Given the description of an element on the screen output the (x, y) to click on. 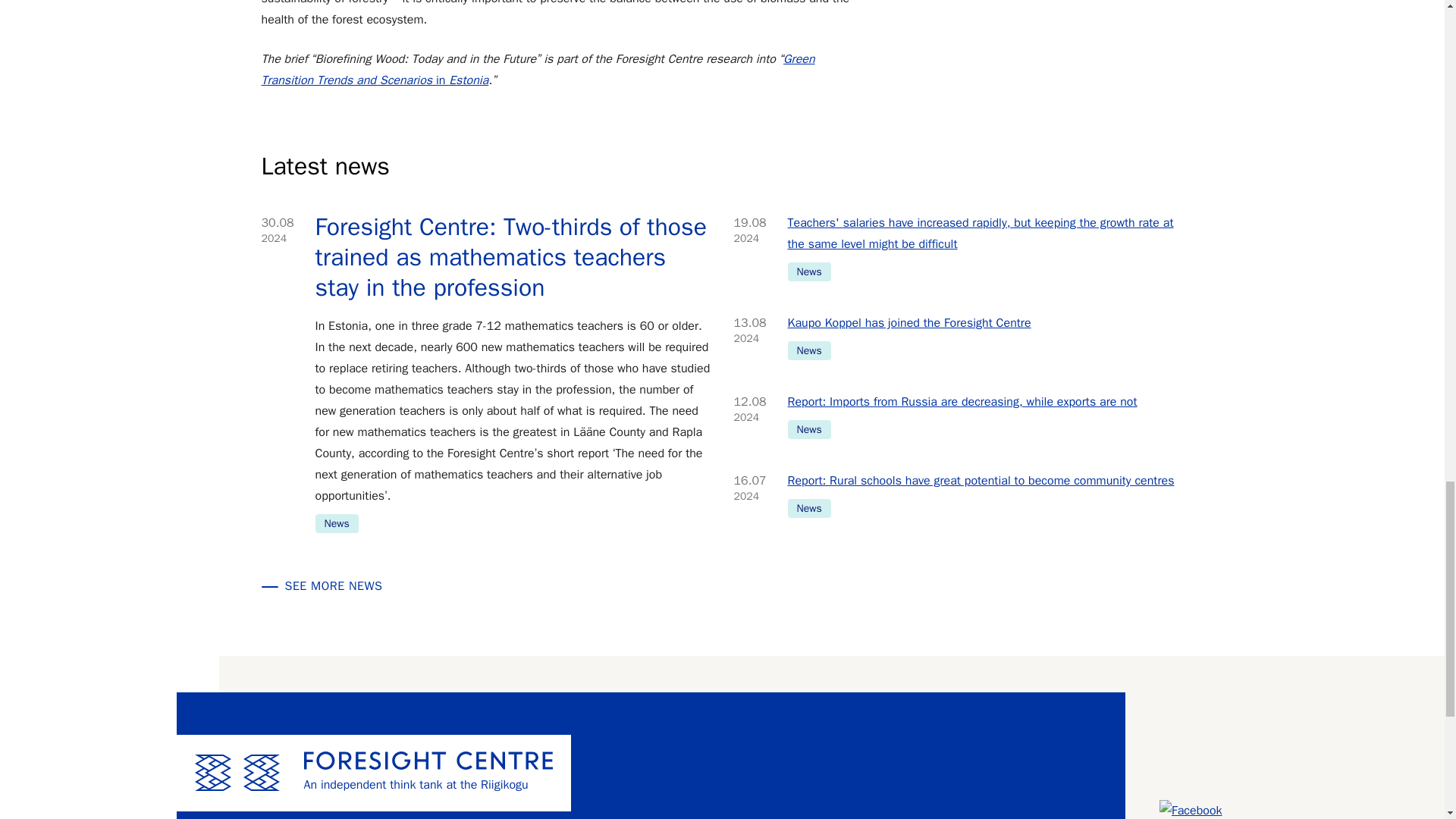
Green Transition Trends and Scenarios in Estonia (536, 69)
Kaupo Koppel has joined the Foresight Centre (984, 322)
News (808, 350)
News (808, 271)
News (336, 523)
News (808, 429)
